Given the description of an element on the screen output the (x, y) to click on. 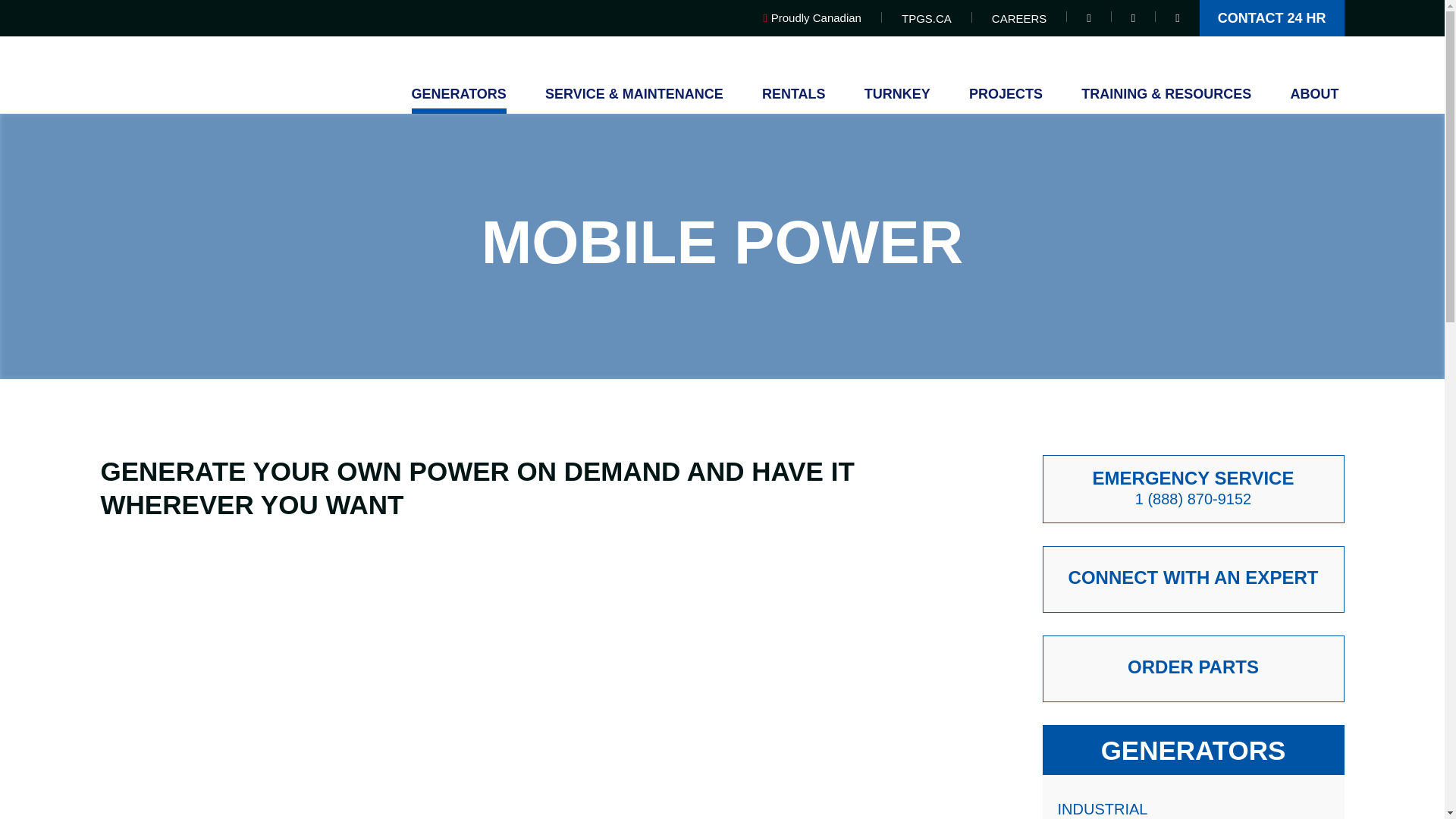
TURNKEY (897, 99)
CAREERS (1019, 18)
PROJECTS (1005, 99)
GENERATORS (457, 99)
Total Power (202, 47)
Proudly Canadian (821, 18)
ABOUT (1314, 99)
TPGS.CA (926, 18)
RENTALS (793, 99)
CONTACT 24 HR (1271, 18)
